Given the description of an element on the screen output the (x, y) to click on. 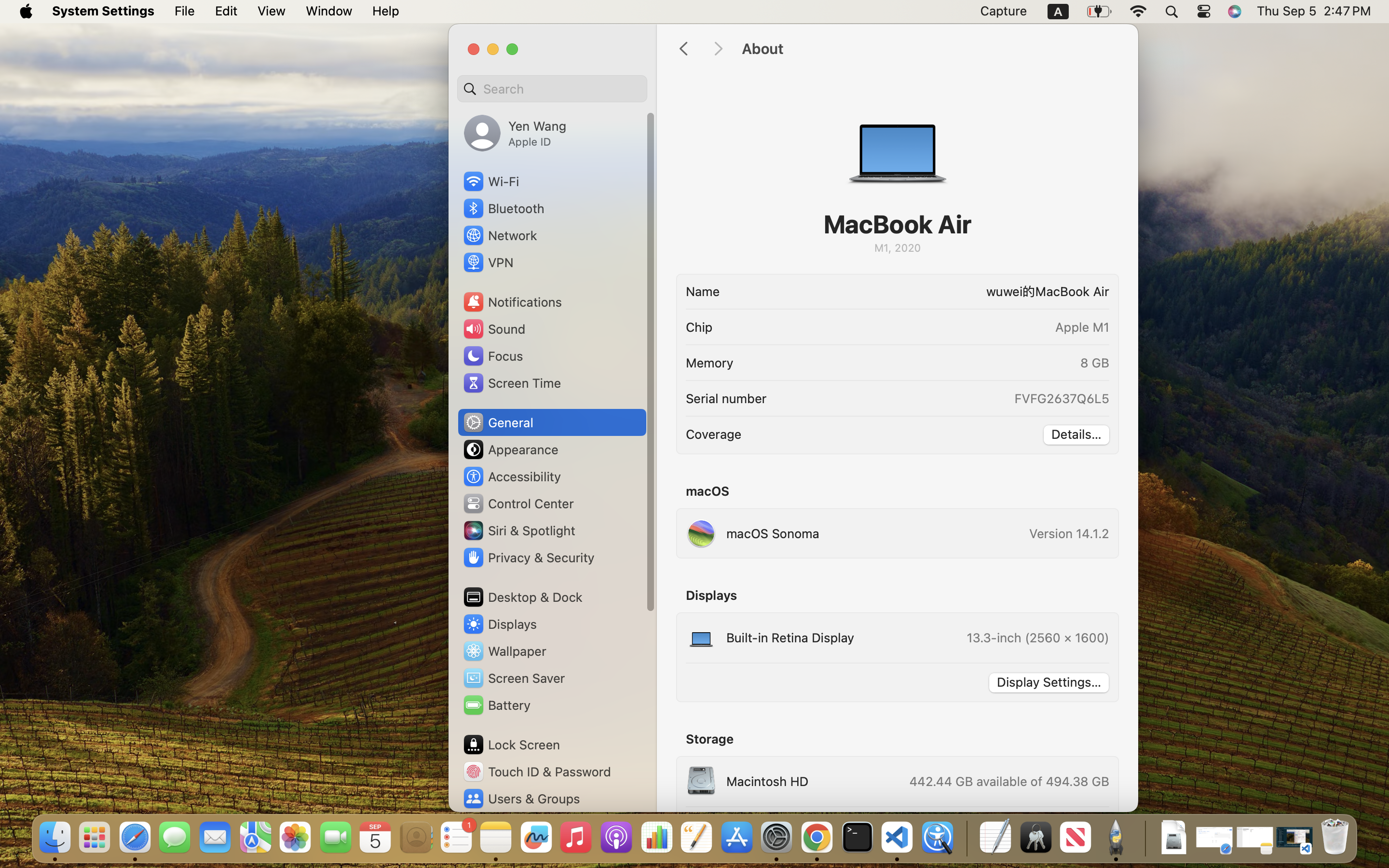
General Element type: AXStaticText (497, 422)
Touch ID & Password Element type: AXStaticText (536, 771)
Screen Saver Element type: AXStaticText (513, 677)
Screen Time Element type: AXStaticText (511, 382)
Coverage Element type: AXStaticText (713, 433)
